Given the description of an element on the screen output the (x, y) to click on. 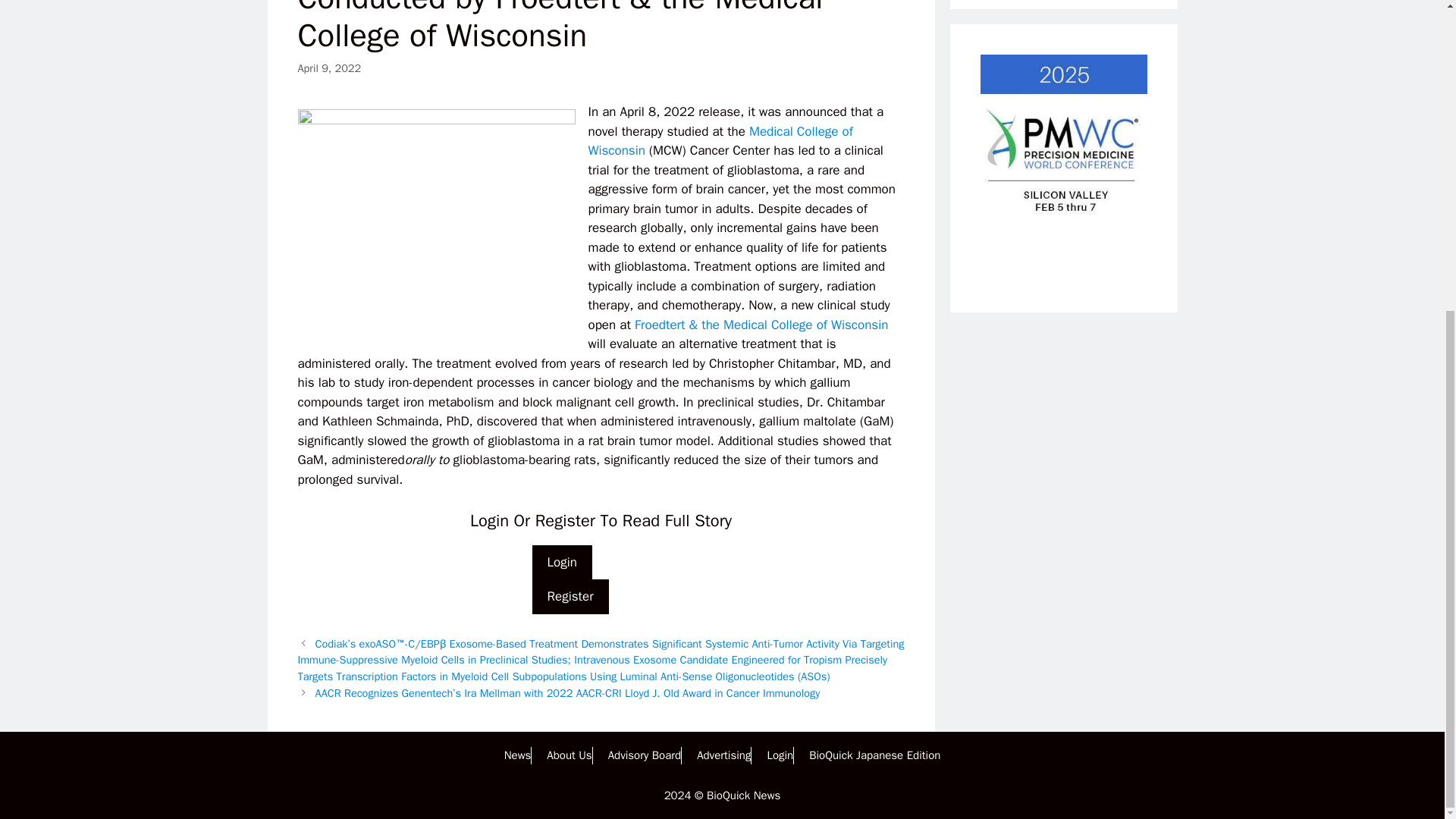
Login (562, 562)
About Us (569, 755)
Advertising (724, 755)
BioQuick Japanese Edition (874, 755)
Advisory Board (644, 755)
Medical College of Wisconsin (720, 140)
Login (780, 755)
Register (570, 596)
News (517, 755)
